Given the description of an element on the screen output the (x, y) to click on. 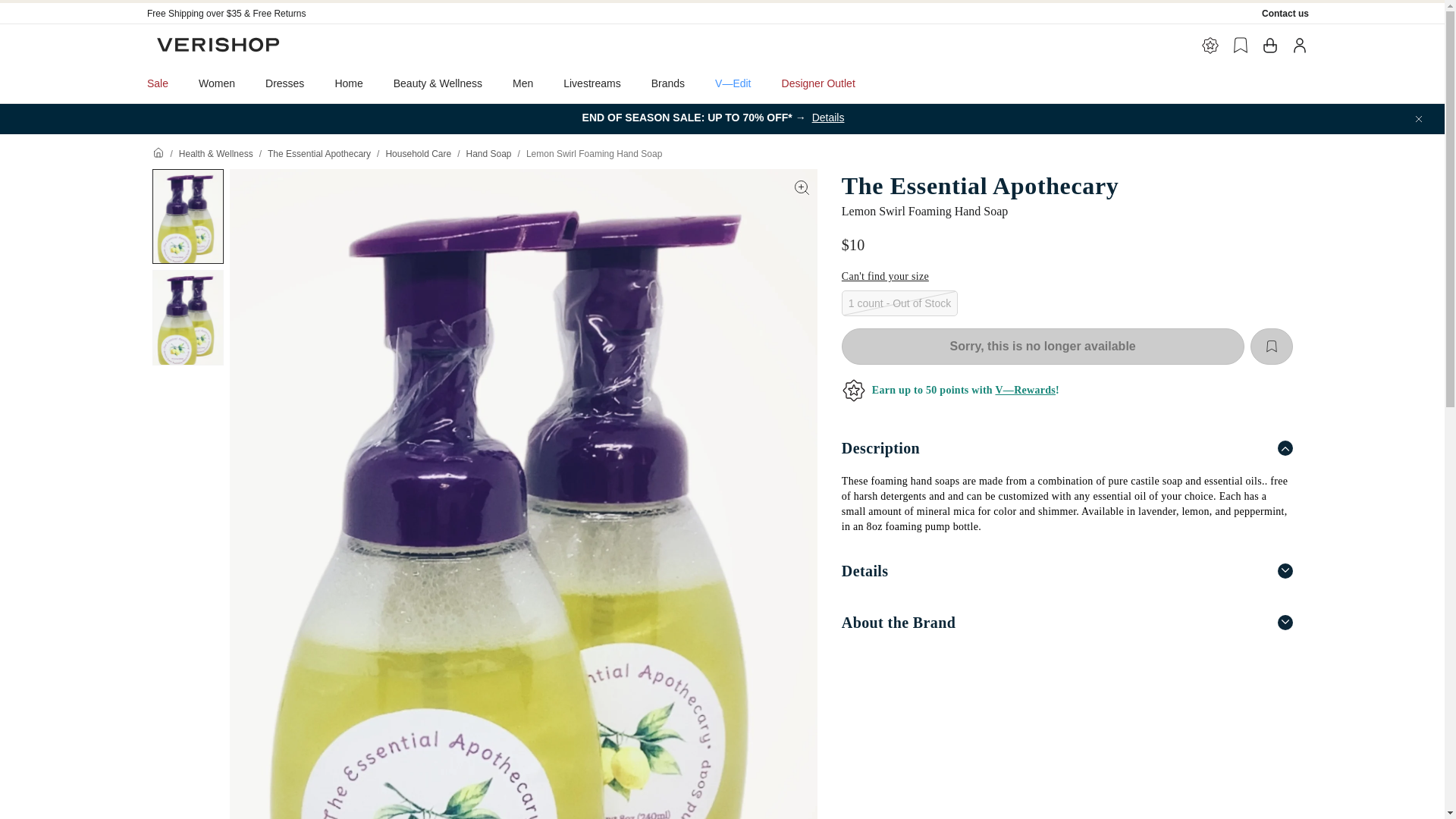
Dresses (284, 82)
Designer Outlet (818, 82)
Contact us (1285, 13)
Details (1066, 571)
Sorry, this is no longer available (1042, 346)
Hand Soap (488, 153)
Household Care (418, 153)
Free Returns (278, 13)
Can't find your size (884, 276)
Brands (668, 82)
